Given the description of an element on the screen output the (x, y) to click on. 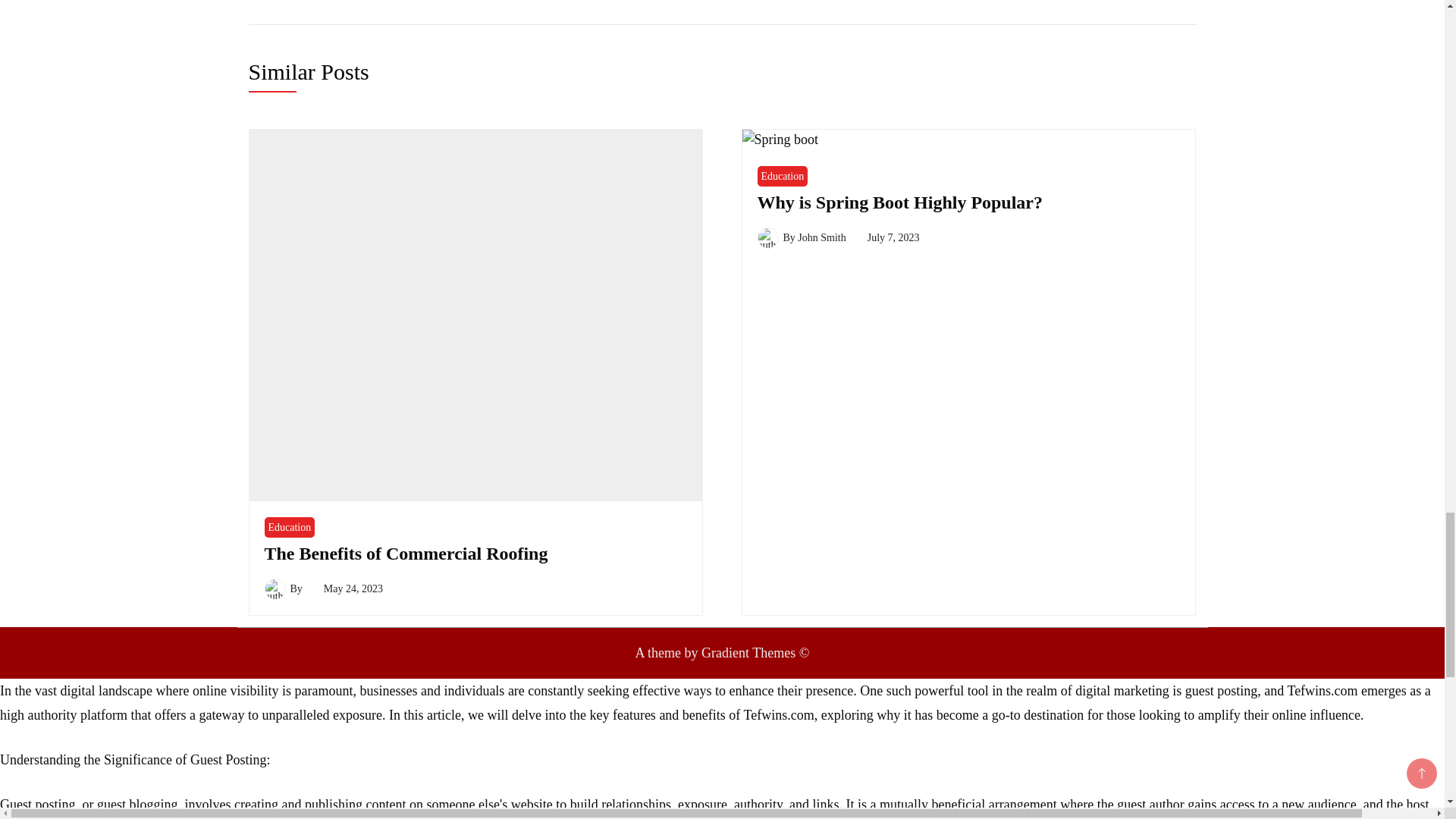
Education (288, 526)
The Benefits of Commercial Roofing (405, 553)
